Given the description of an element on the screen output the (x, y) to click on. 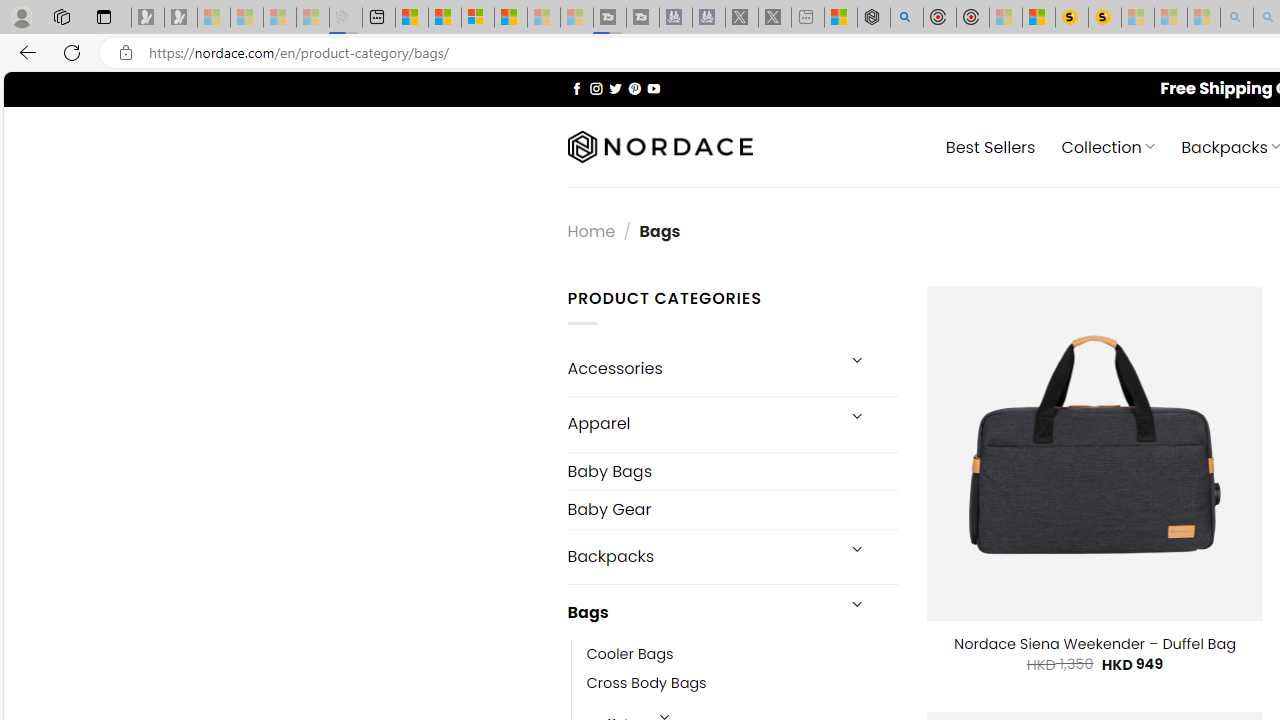
Baby Gear (732, 510)
Baby Bags (732, 470)
